Given the description of an element on the screen output the (x, y) to click on. 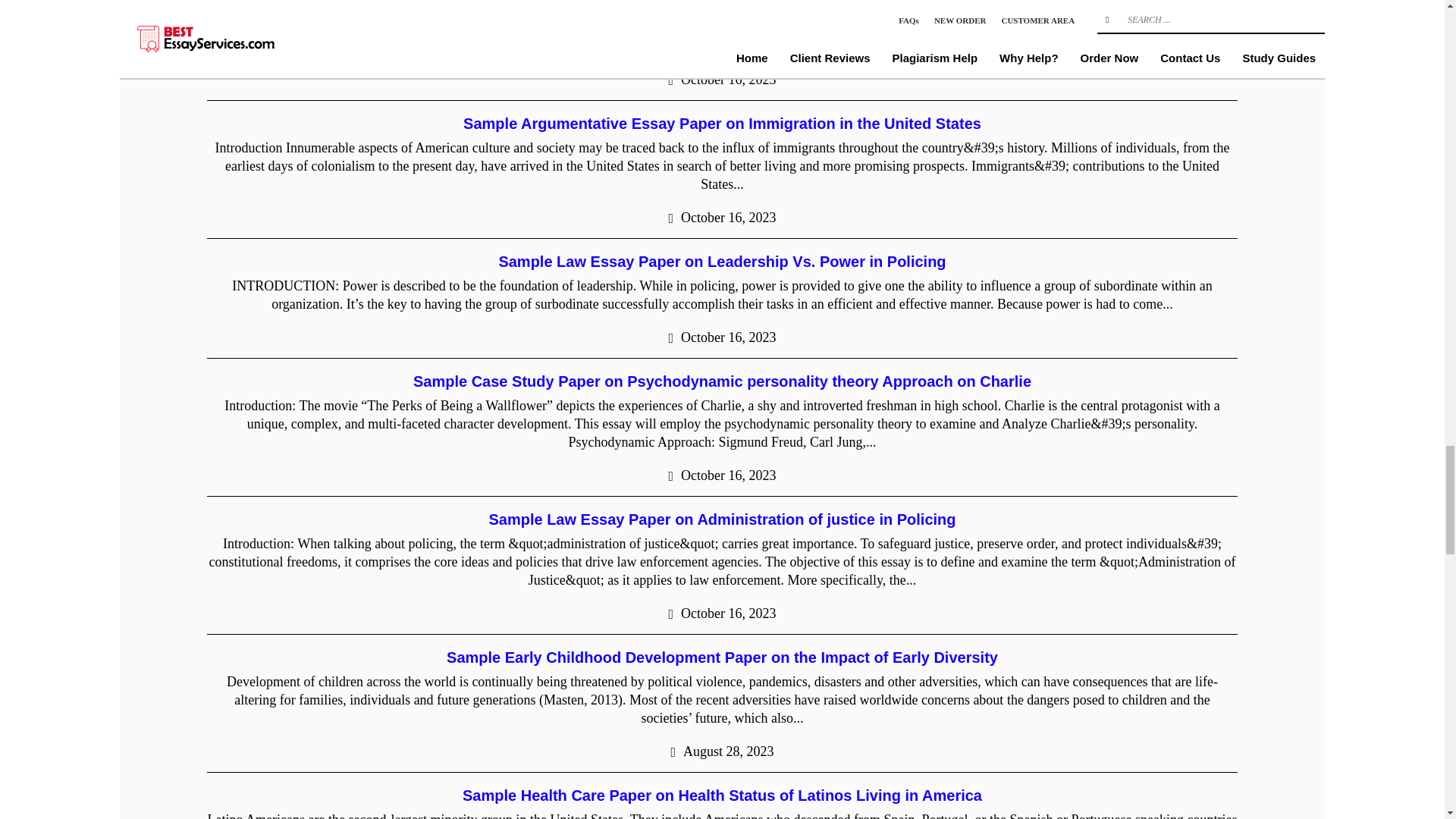
Sample Research Paper on Hypertension of High blood pressure (722, 6)
Sample Law Essay Paper on Leadership Vs. Power in Policing (720, 261)
